Given the description of an element on the screen output the (x, y) to click on. 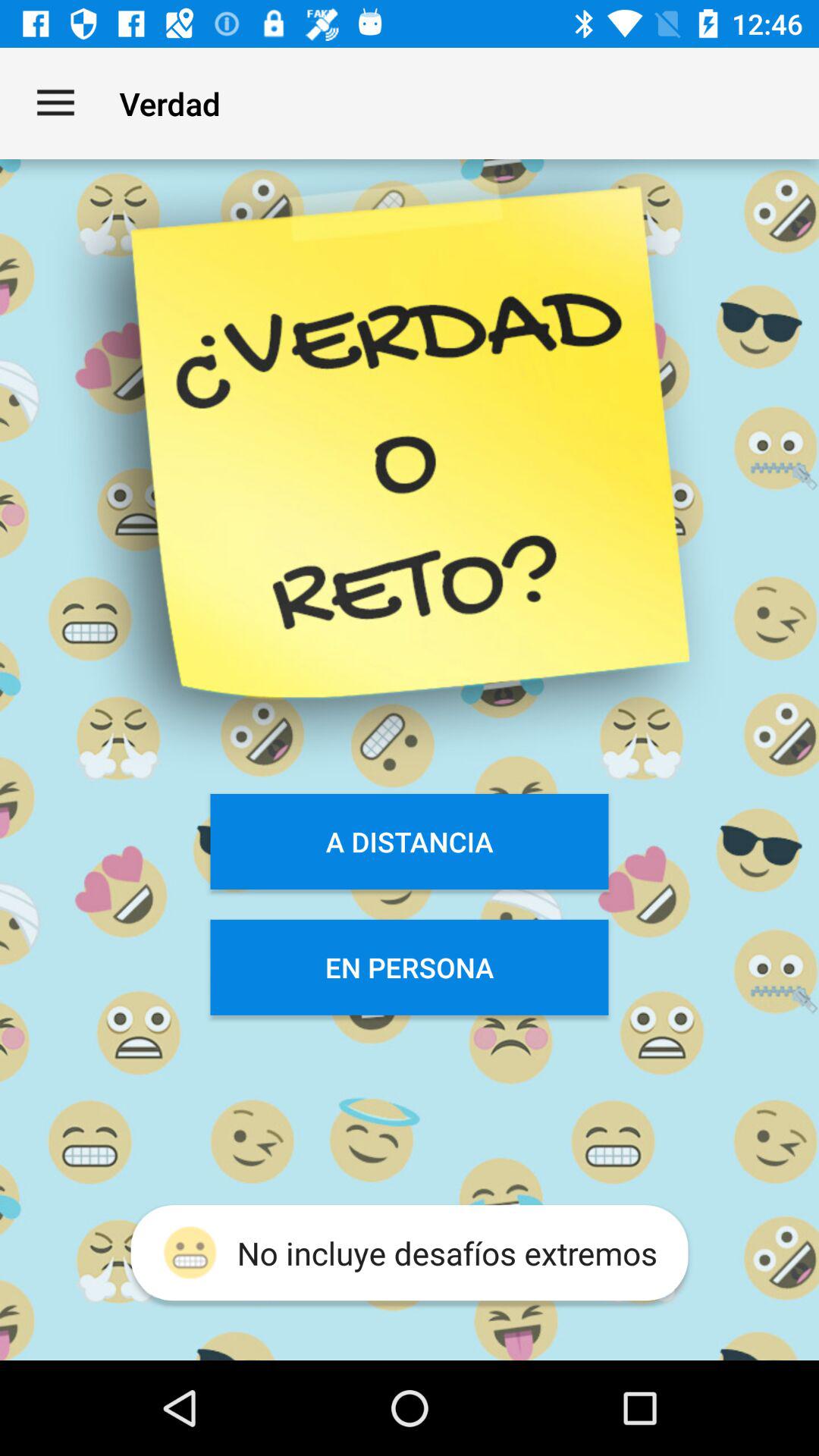
tap the en persona (409, 967)
